Given the description of an element on the screen output the (x, y) to click on. 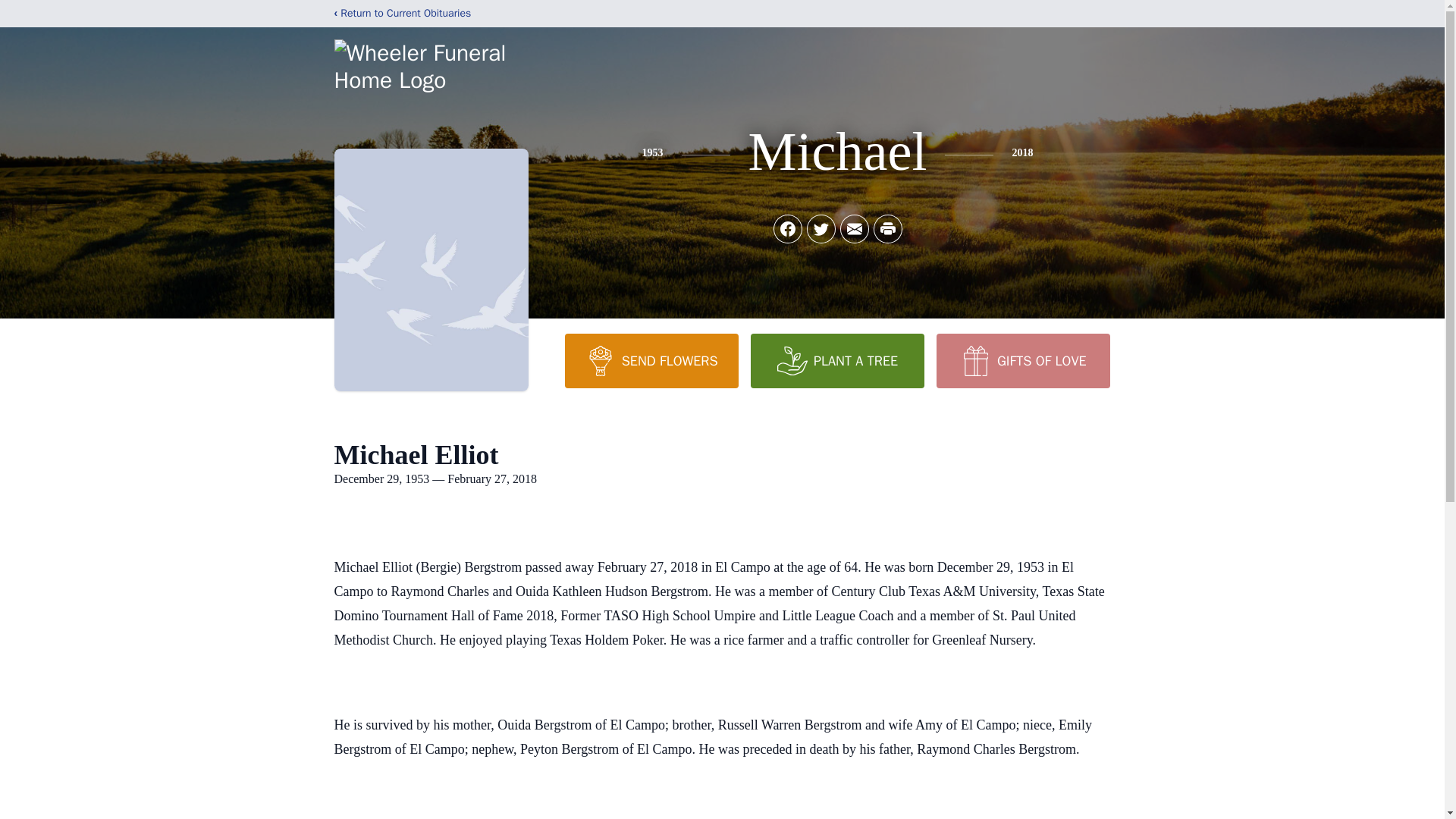
GIFTS OF LOVE (1022, 360)
PLANT A TREE (837, 360)
SEND FLOWERS (651, 360)
